Given the description of an element on the screen output the (x, y) to click on. 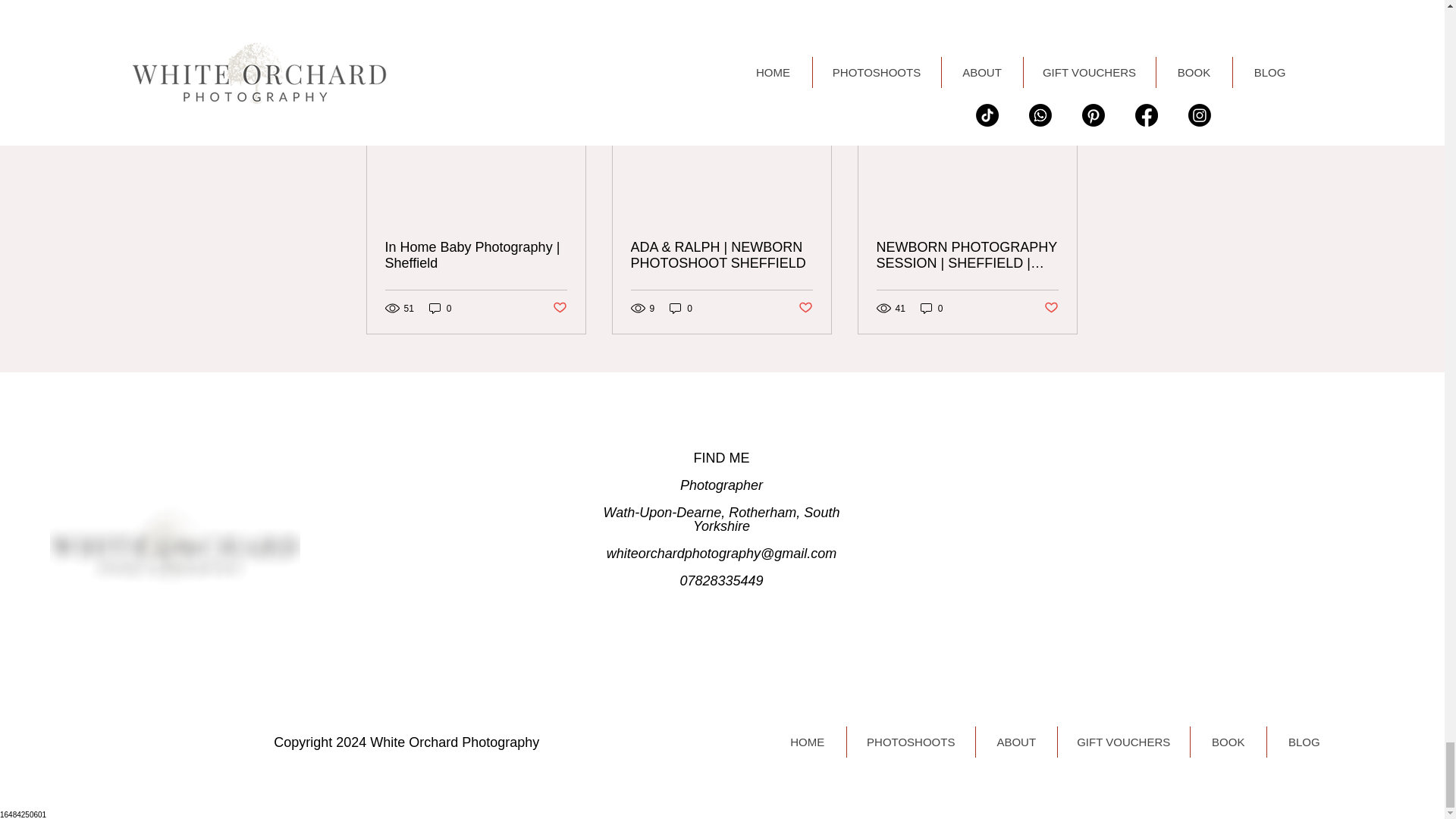
Post not marked as liked (1050, 308)
0 (681, 308)
0 (931, 308)
Post not marked as liked (558, 308)
0 (440, 308)
Post not marked as liked (804, 308)
See All (1061, 71)
